Given the description of an element on the screen output the (x, y) to click on. 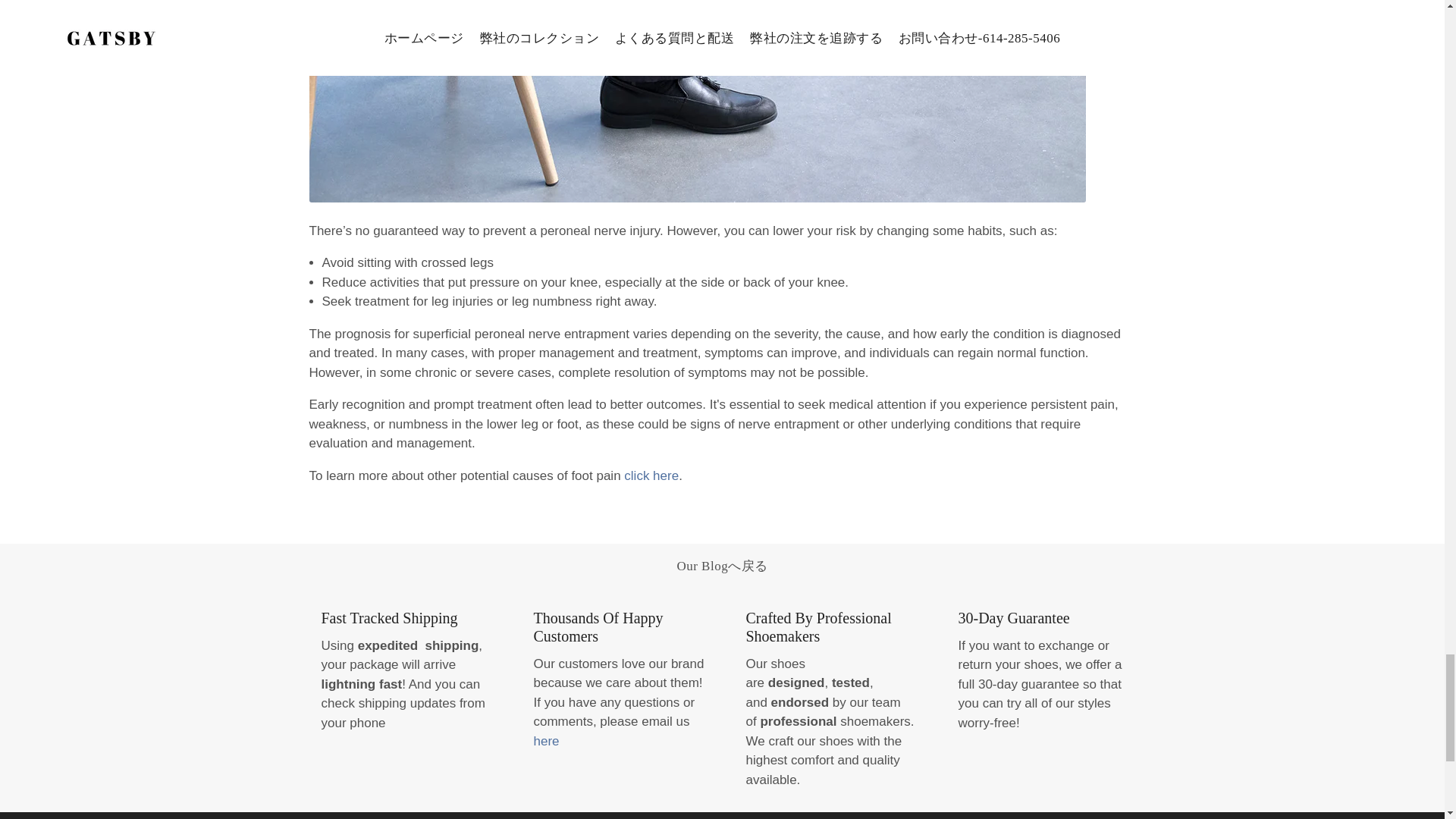
here (546, 740)
click here (651, 475)
Contact Us (546, 740)
Other Causes of Foot Pain (651, 475)
